Given the description of an element on the screen output the (x, y) to click on. 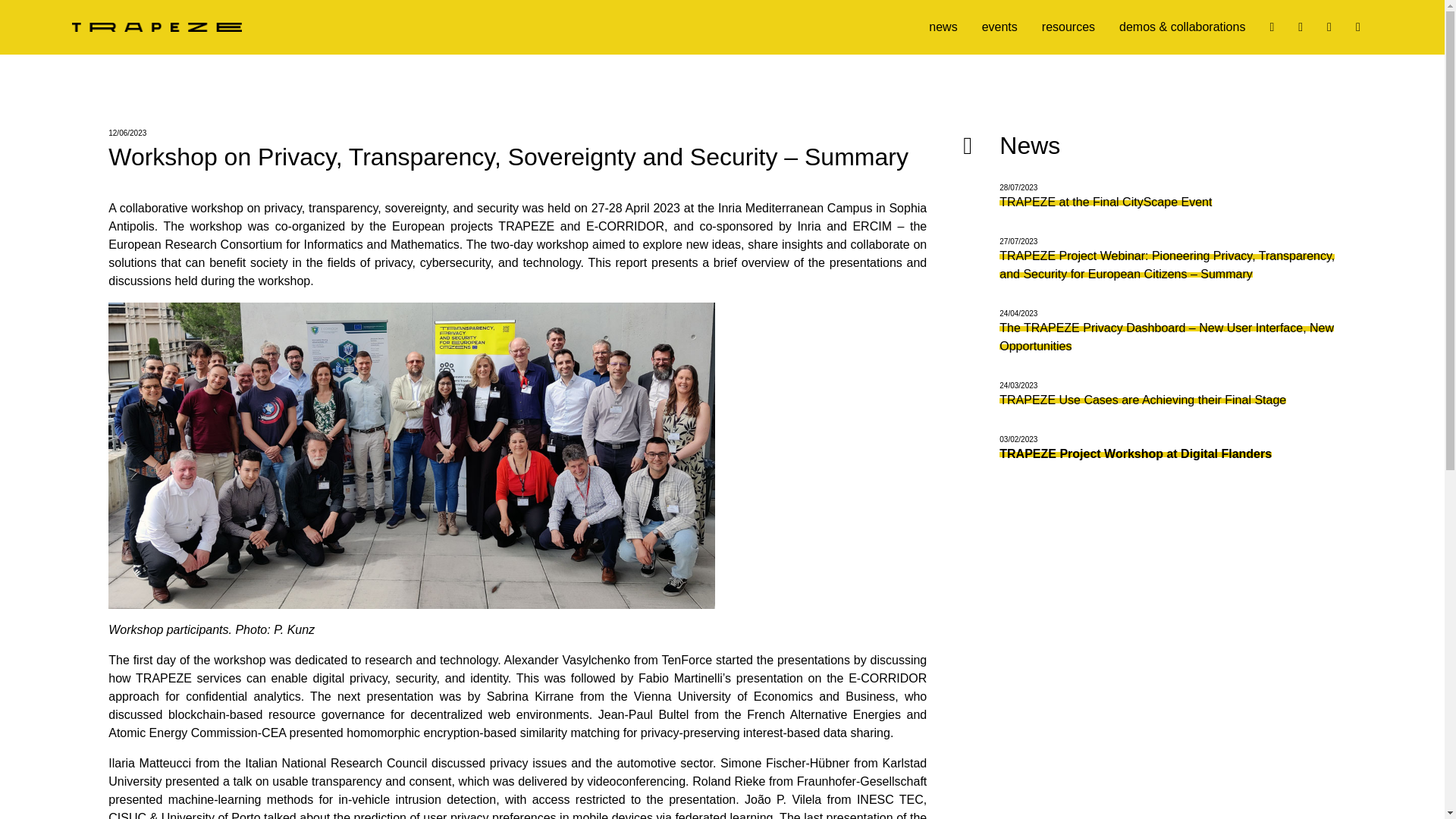
News (942, 27)
TRAPEZE Use Cases are Achieving their Final Stage (1148, 394)
Trapeze Home (156, 26)
Events (999, 27)
news (942, 27)
TRAPEZE at the Final CityScape Event (1148, 196)
Demos and Collaborations (1181, 27)
Resources (1068, 27)
events (999, 27)
resources (1068, 27)
